Given the description of an element on the screen output the (x, y) to click on. 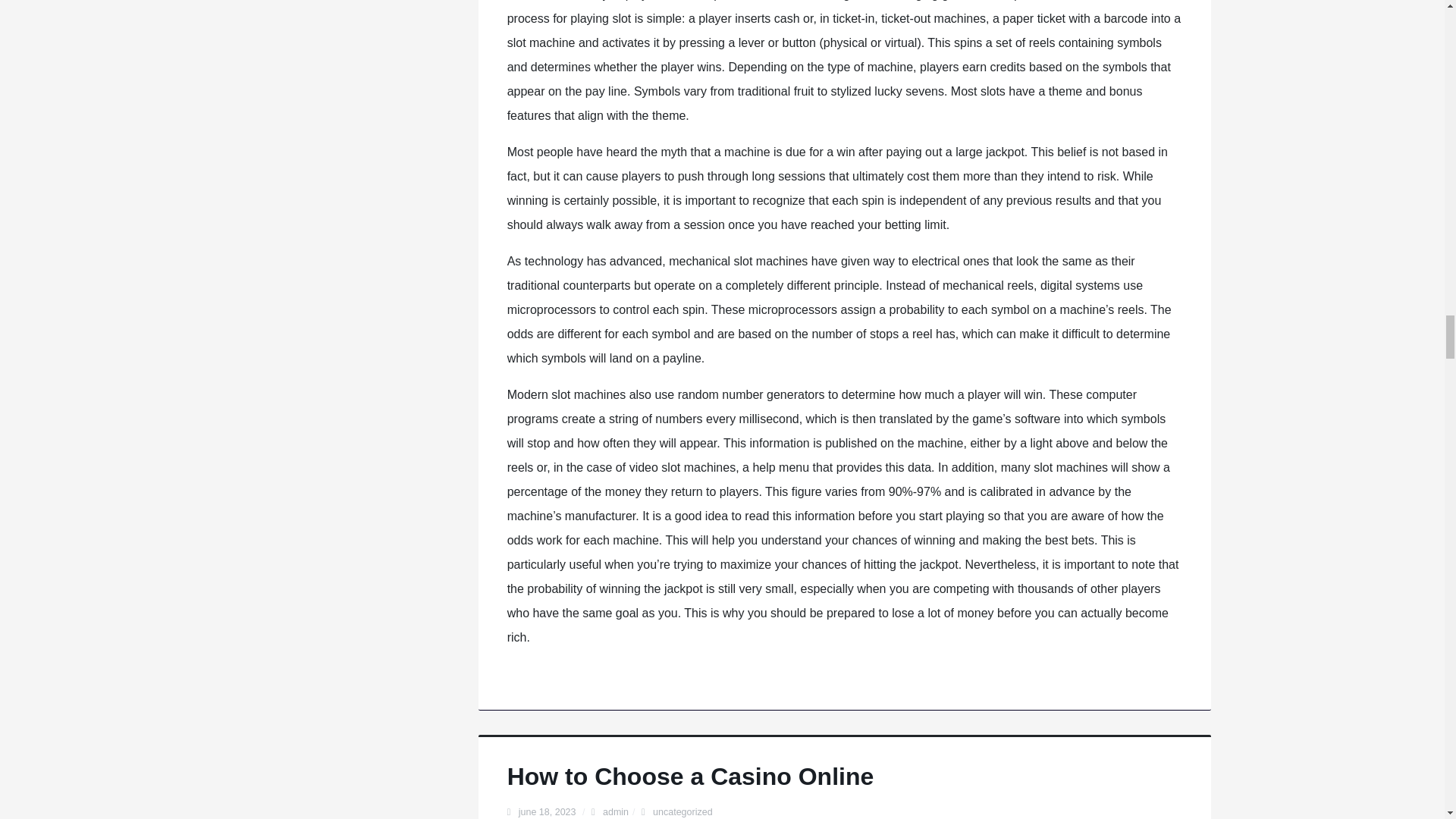
How to Choose a Casino Online (690, 776)
